Given the description of an element on the screen output the (x, y) to click on. 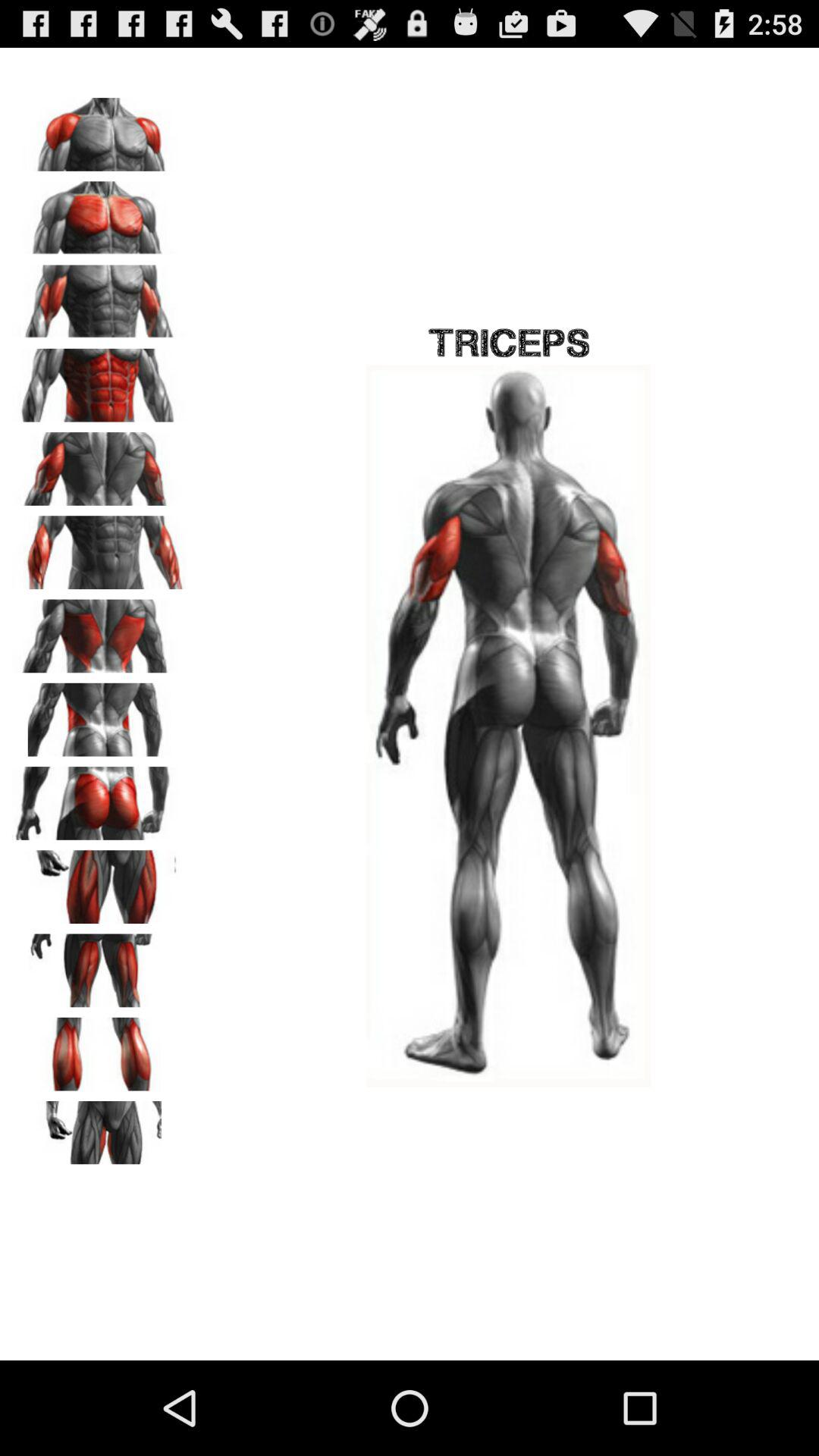
upper arms (99, 463)
